Given the description of an element on the screen output the (x, y) to click on. 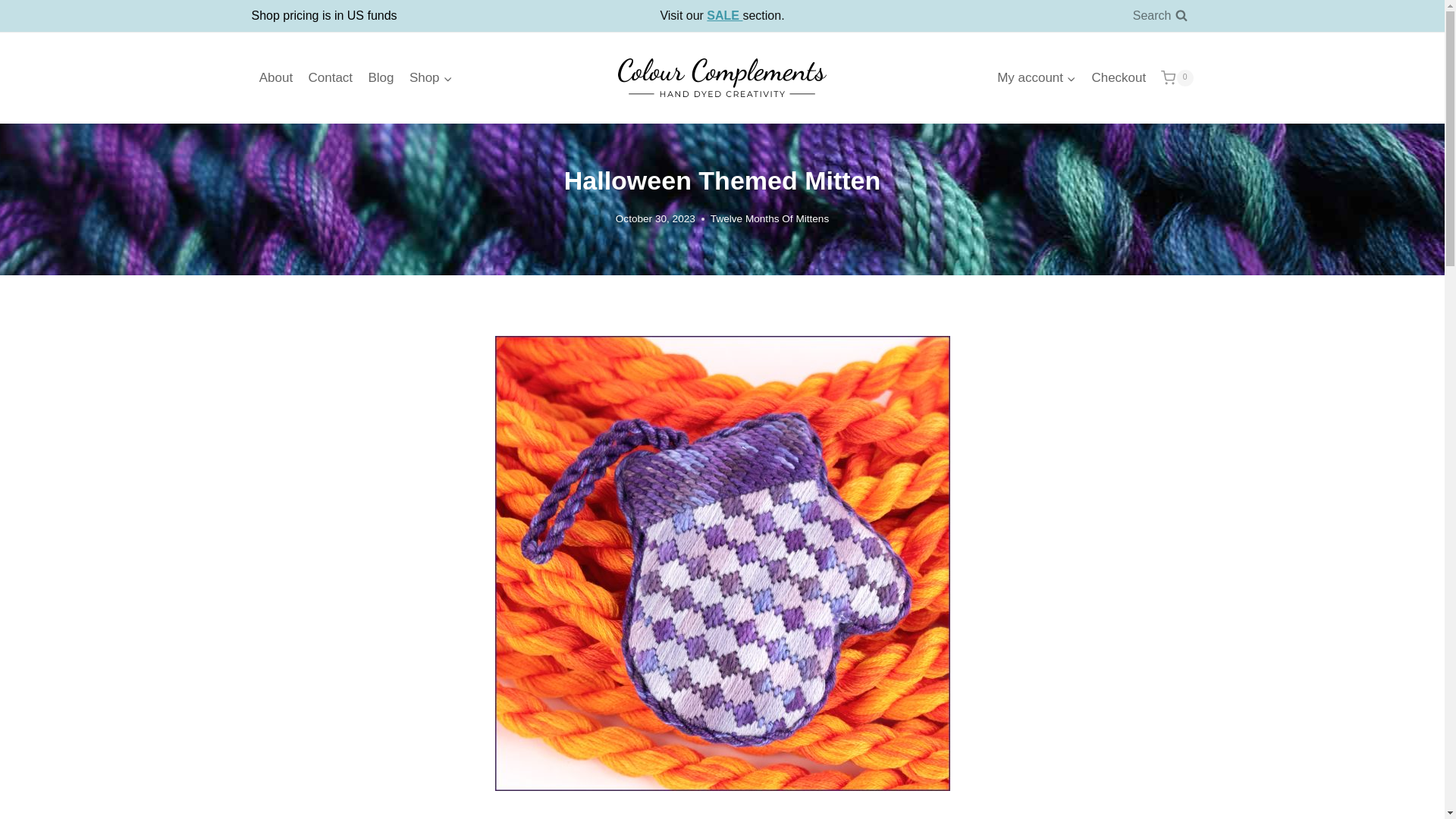
SALE (724, 15)
Shop (430, 77)
Blog (380, 77)
Twelve Months Of Mittens (769, 218)
Contact (329, 77)
Checkout (1118, 77)
My account (1036, 77)
About (276, 77)
0 (1176, 77)
Search (1159, 15)
